Given the description of an element on the screen output the (x, y) to click on. 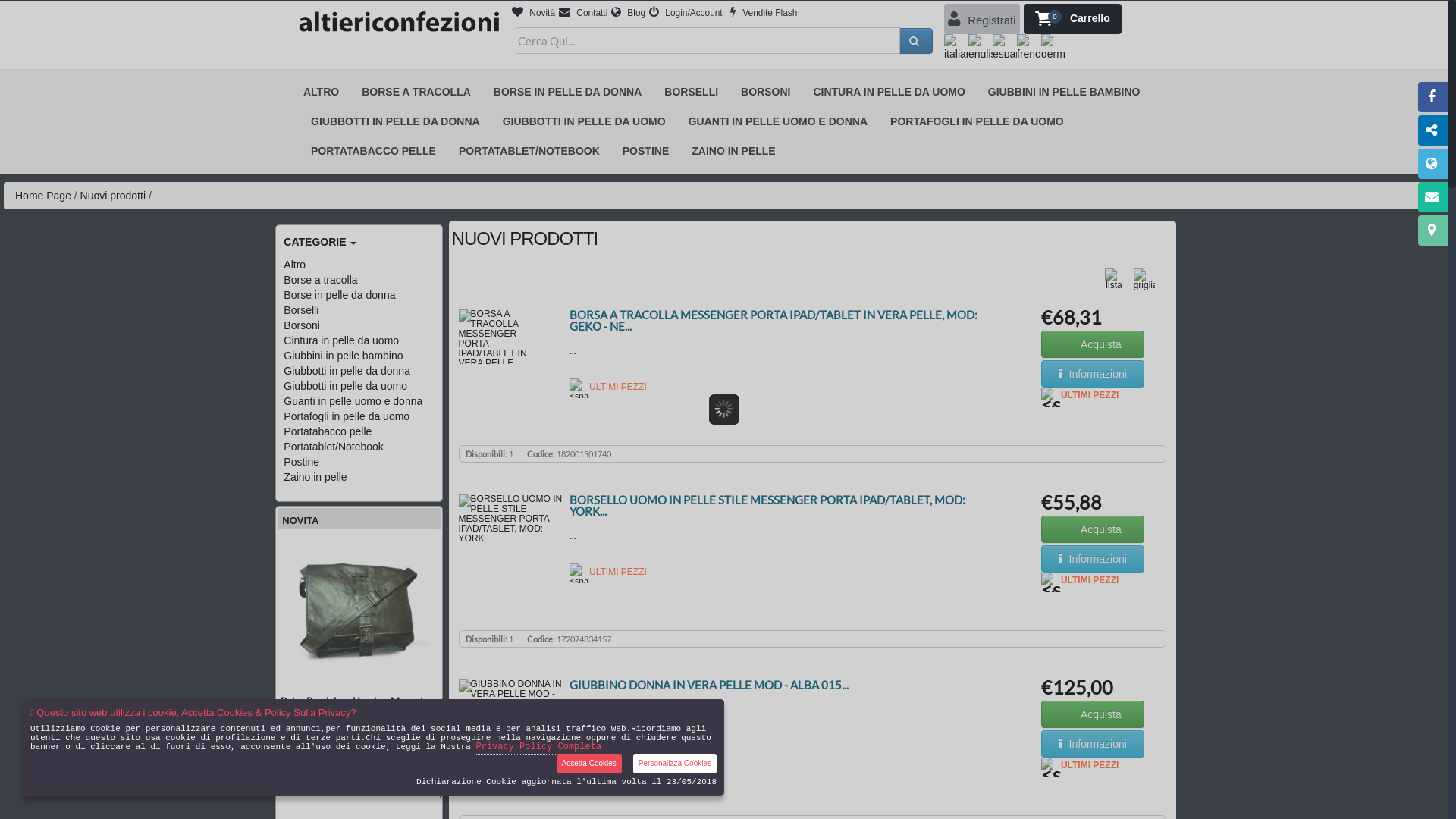
Postine Element type: text (301, 461)
ZAINO IN PELLE Element type: text (733, 151)
<span class="ultimipezzi">Ultimi pezzi</span> Element type: hover (579, 388)
Privacy Policy Completa Element type: text (539, 747)
Giubbini in pelle bambino Element type: text (342, 355)
Giubbotti in pelle da donna Element type: text (346, 370)
Informazioni Element type: text (1092, 558)
CINTURA IN PELLE DA UOMO Element type: text (888, 91)
<span class="ultimipezzi">Ultimi pezzi</span> Element type: hover (1050, 582)
Acquista Element type: text (1092, 714)
<span class="ultimipezzi">Ultimi pezzi</span> Element type: hover (579, 746)
ALTRO Element type: text (320, 91)
BORSONI Element type: text (765, 91)
GIUBBINO DONNA IN VERA PELLE MOD - ALBA 015... Element type: text (708, 684)
Blog Element type: text (628, 12)
Home Page Element type: text (43, 195)
PORTATABLET/NOTEBOOK Element type: text (529, 151)
Contatti Element type: text (582, 12)
<span class="ultimipezzi">Ultimi pezzi</span> Element type: hover (579, 573)
Borse in pelle da donna Element type: text (339, 294)
Login/Account Element type: text (685, 12)
Acquista Element type: text (1092, 528)
french Element type: hover (1028, 46)
Acquista Element type: text (1092, 340)
GUANTI IN PELLE UOMO E DONNA Element type: text (777, 121)
BORSE A TRACOLLA Element type: text (416, 91)
ZAINO IN VERA PELLE ARTIGIANATO ITALIANO MOD.TRAF Element type: hover (519, 655)
italian Element type: hover (956, 46)
CATEGORIE Element type: text (361, 241)
Borsoni Element type: text (301, 325)
PORTAFOGLI IN PELLE DA UOMO Element type: text (976, 121)
BORSELLI Element type: text (690, 91)
Accetta Cookies Element type: text (588, 763)
Informazioni Element type: text (1092, 369)
Guanti in pelle uomo e donna Element type: text (352, 401)
Vendite Flash Element type: text (763, 12)
Acquista Element type: text (1092, 525)
Giubbotti in pelle da uomo Element type: text (345, 385)
POSTINE Element type: text (645, 151)
Nuovi prodotti Element type: text (112, 195)
Borse a tracolla Element type: text (320, 279)
Portafogli in pelle da uomo Element type: text (346, 416)
GIUBBINO DONNA IN VERA PELLE MOD - ALBA 015 Element type: hover (511, 733)
german Element type: hover (1053, 46)
BORSE IN PELLE DA DONNA Element type: text (567, 91)
Portatabacco pelle Element type: text (327, 431)
GIUBBINI IN PELLE BAMBINO Element type: text (1064, 91)
0
Carrello Element type: text (1072, 18)
Informazioni Element type: text (1092, 743)
GIUBBOTTI IN PELLE DA DONNA Element type: text (395, 121)
<span class="ultimipezzi">Ultimi pezzi</span> Element type: hover (1050, 767)
Altro Element type: text (294, 264)
Informazioni Element type: text (1092, 739)
Informazioni Element type: text (1092, 554)
GIUBBOTTI IN PELLE DA UOMO Element type: text (584, 121)
Acquista Element type: text (1092, 710)
Informazioni Element type: text (1092, 373)
Personalizza Cookies Element type: text (674, 763)
Zaino in pelle Element type: text (314, 476)
Borselli Element type: text (300, 310)
Registrati Element type: text (981, 18)
espanol Element type: hover (1004, 46)
<span class="ultimipezzi">Ultimi pezzi</span> Element type: hover (1050, 397)
Cintura in pelle da uomo Element type: text (340, 340)
Acquista Element type: text (1092, 343)
english Element type: hover (980, 46)
Portatablet/Notebook Element type: text (333, 446)
PORTATABACCO PELLE Element type: text (373, 151)
